Given the description of an element on the screen output the (x, y) to click on. 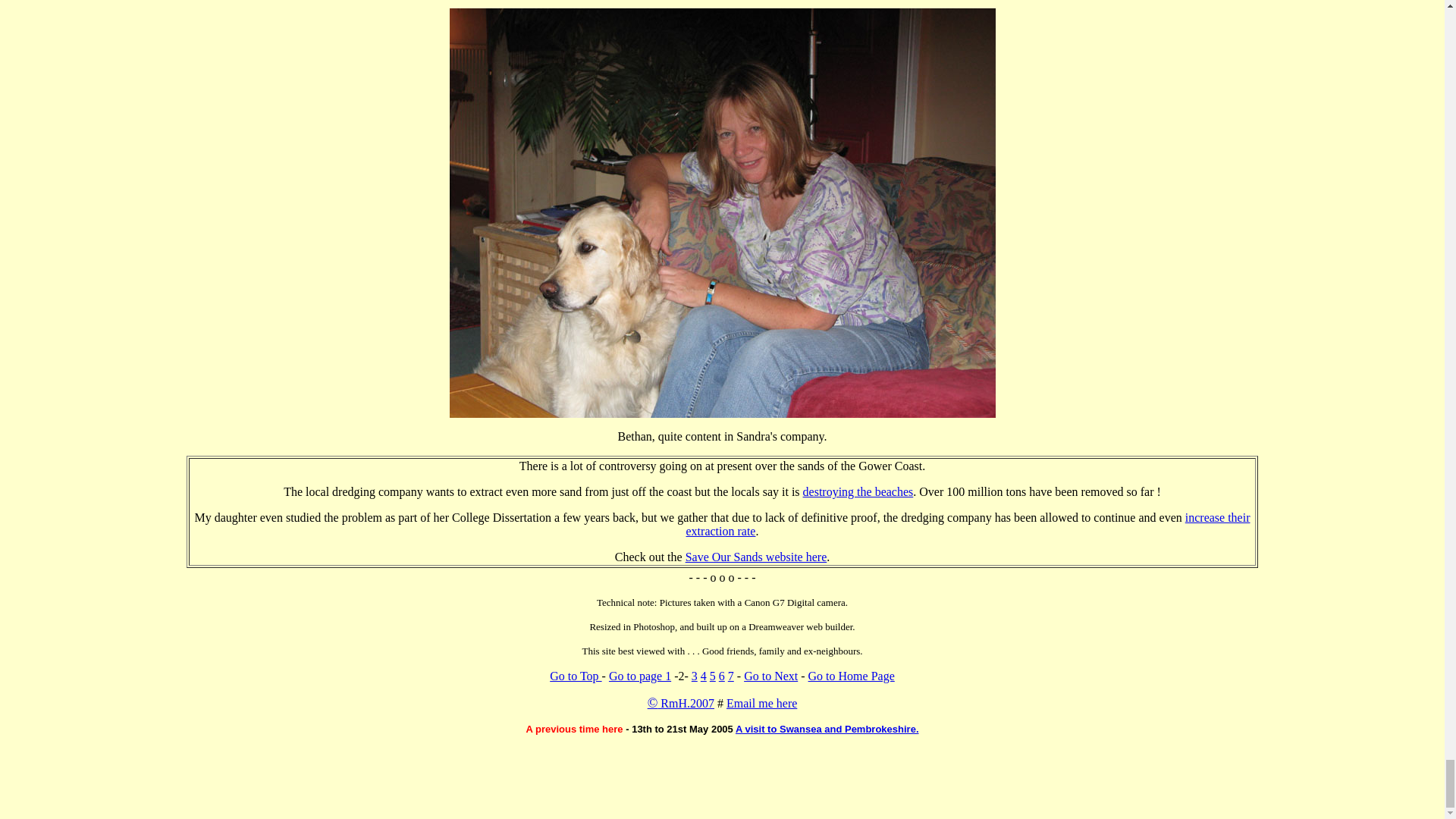
increase their extraction rate (967, 524)
destroying the beaches (858, 491)
Save Our Sands website here (756, 556)
Go to Next (770, 675)
Go to page 1 (639, 675)
Email me here (761, 703)
Go to Home Page (851, 675)
Go to Top (575, 675)
A visit to Swansea and Pembrokeshire. (826, 728)
